Given the description of an element on the screen output the (x, y) to click on. 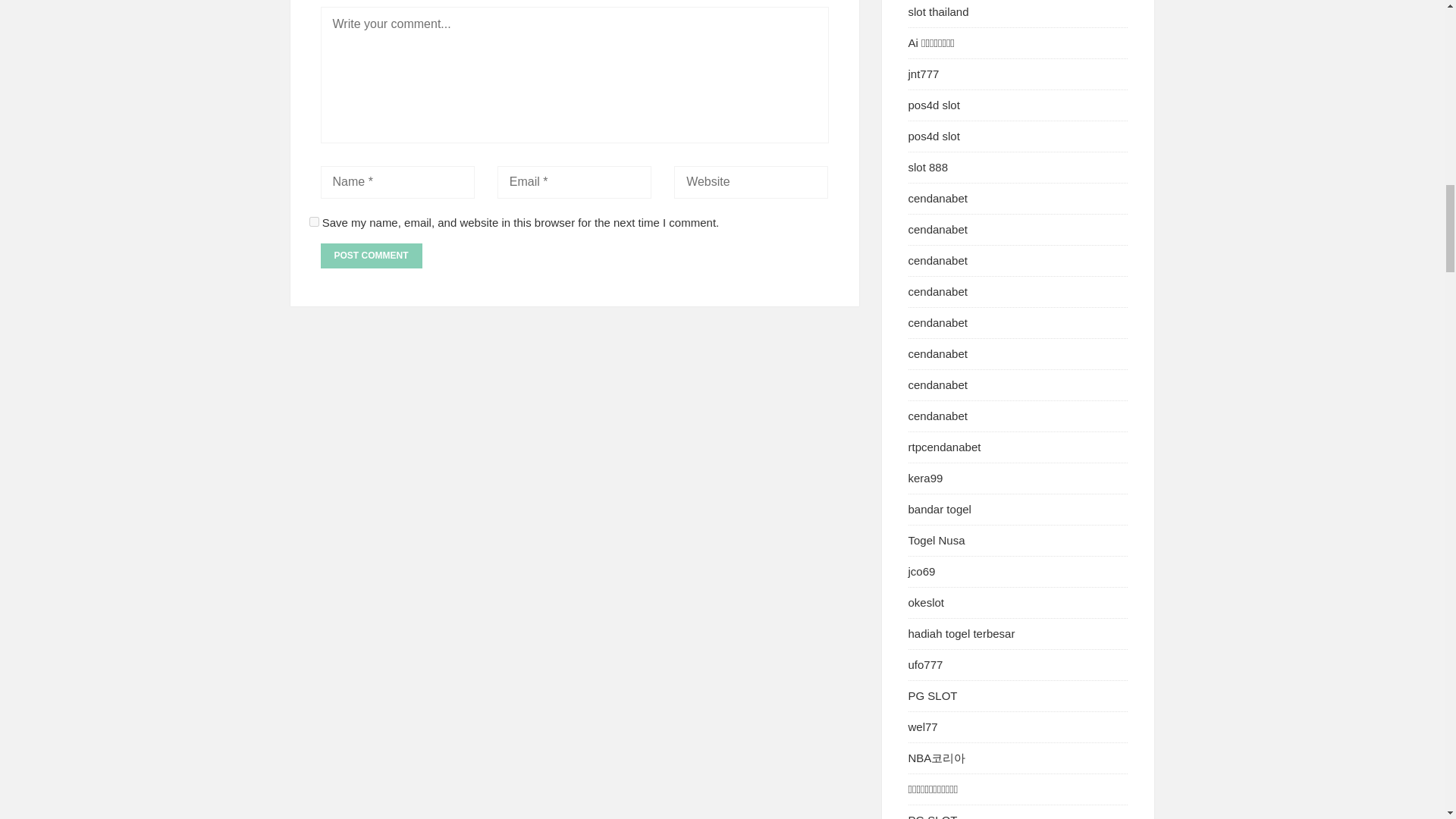
Post Comment (371, 255)
Post Comment (371, 255)
yes (313, 221)
